Given the description of an element on the screen output the (x, y) to click on. 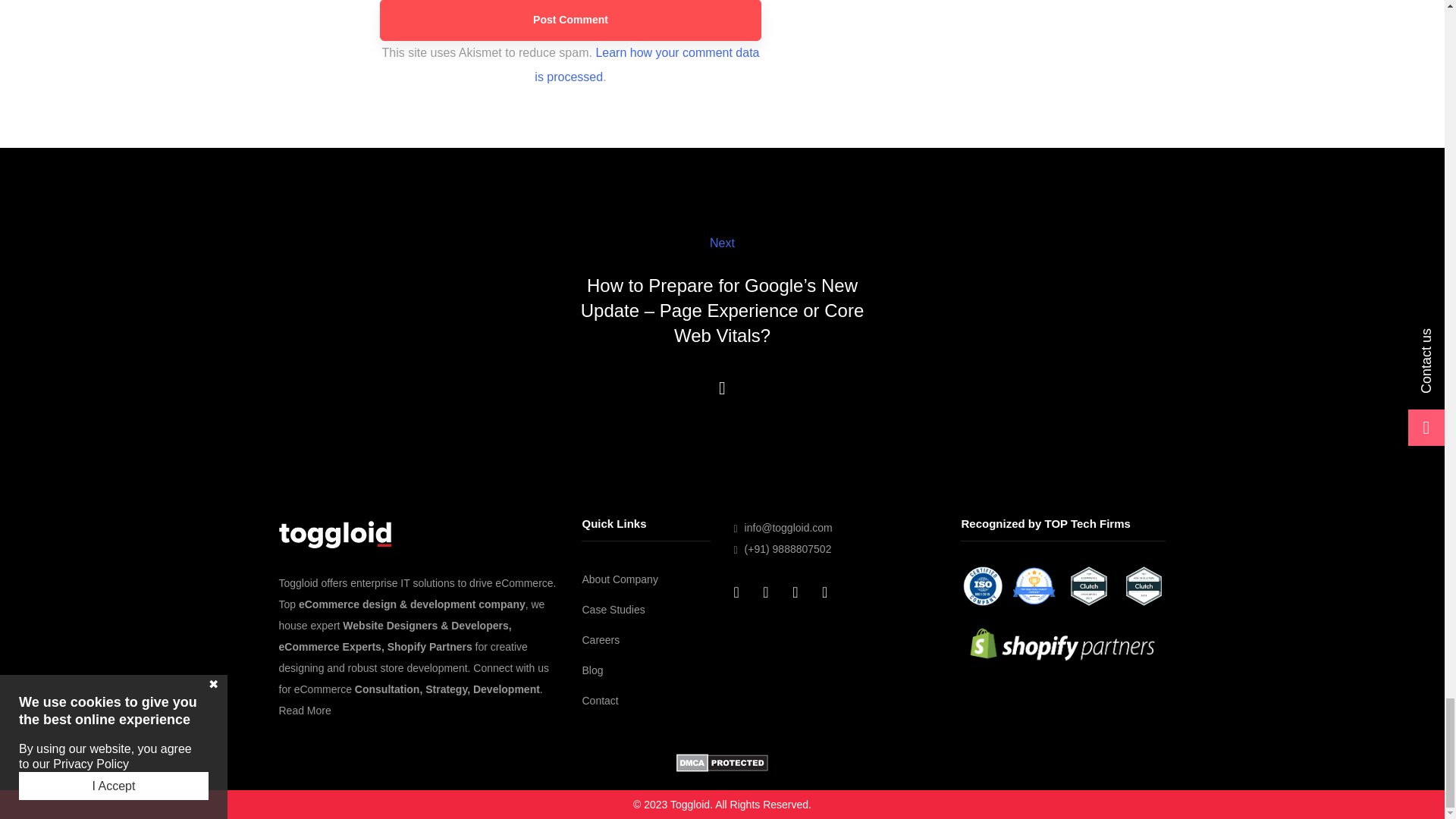
Post Comment (570, 20)
DMCA.com Protection Status (722, 764)
